Given the description of an element on the screen output the (x, y) to click on. 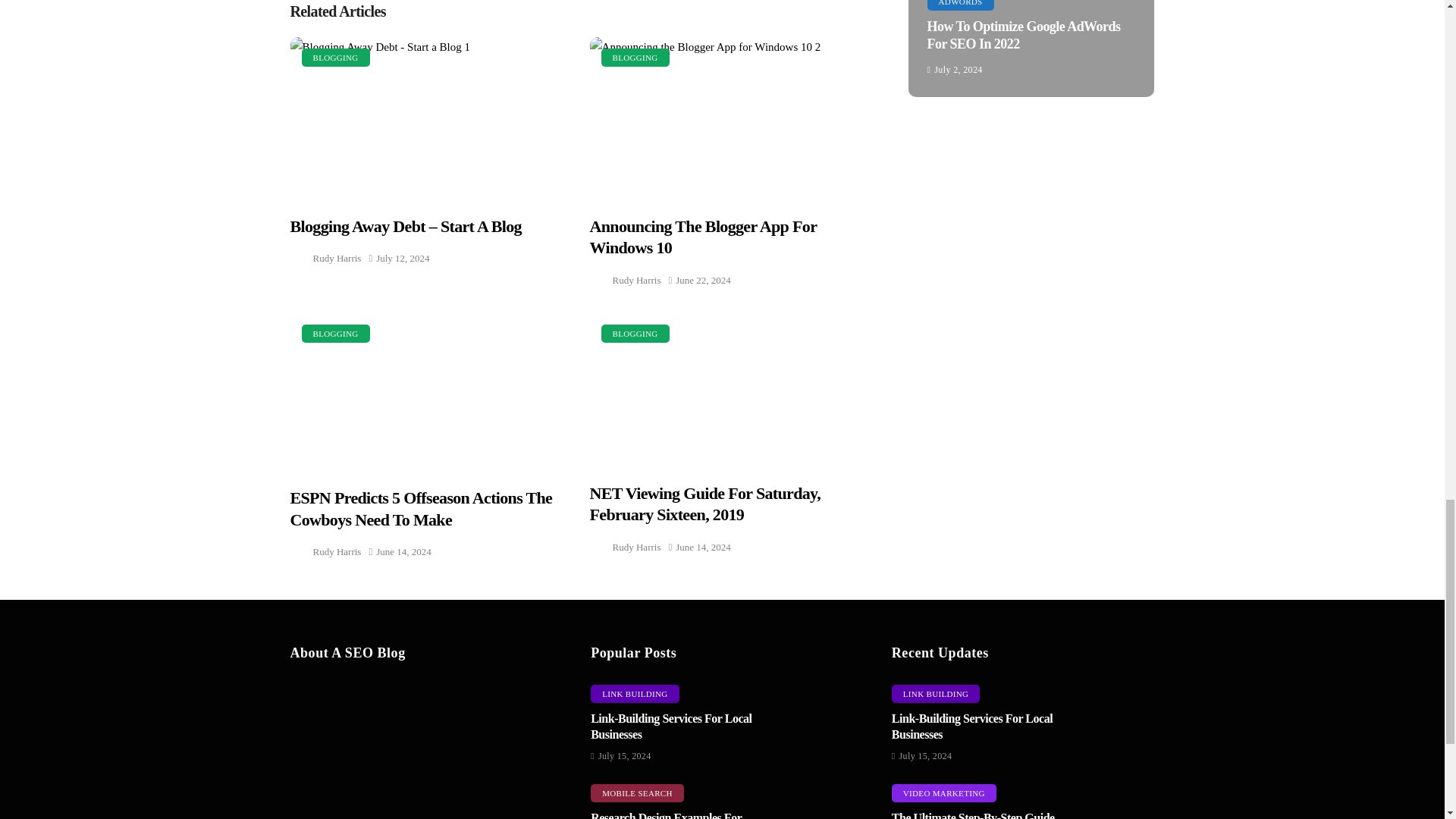
Posts by Rudy Harris (636, 280)
Posts by Rudy Harris (337, 257)
NET Viewing Guide For Saturday, February sixteen, 2019 (727, 388)
ESPN predicts 5 offseason actions the Cowboys need to make (427, 390)
Posts by Rudy Harris (337, 551)
Announcing the Blogger App for Windows 10 (727, 116)
